Given the description of an element on the screen output the (x, y) to click on. 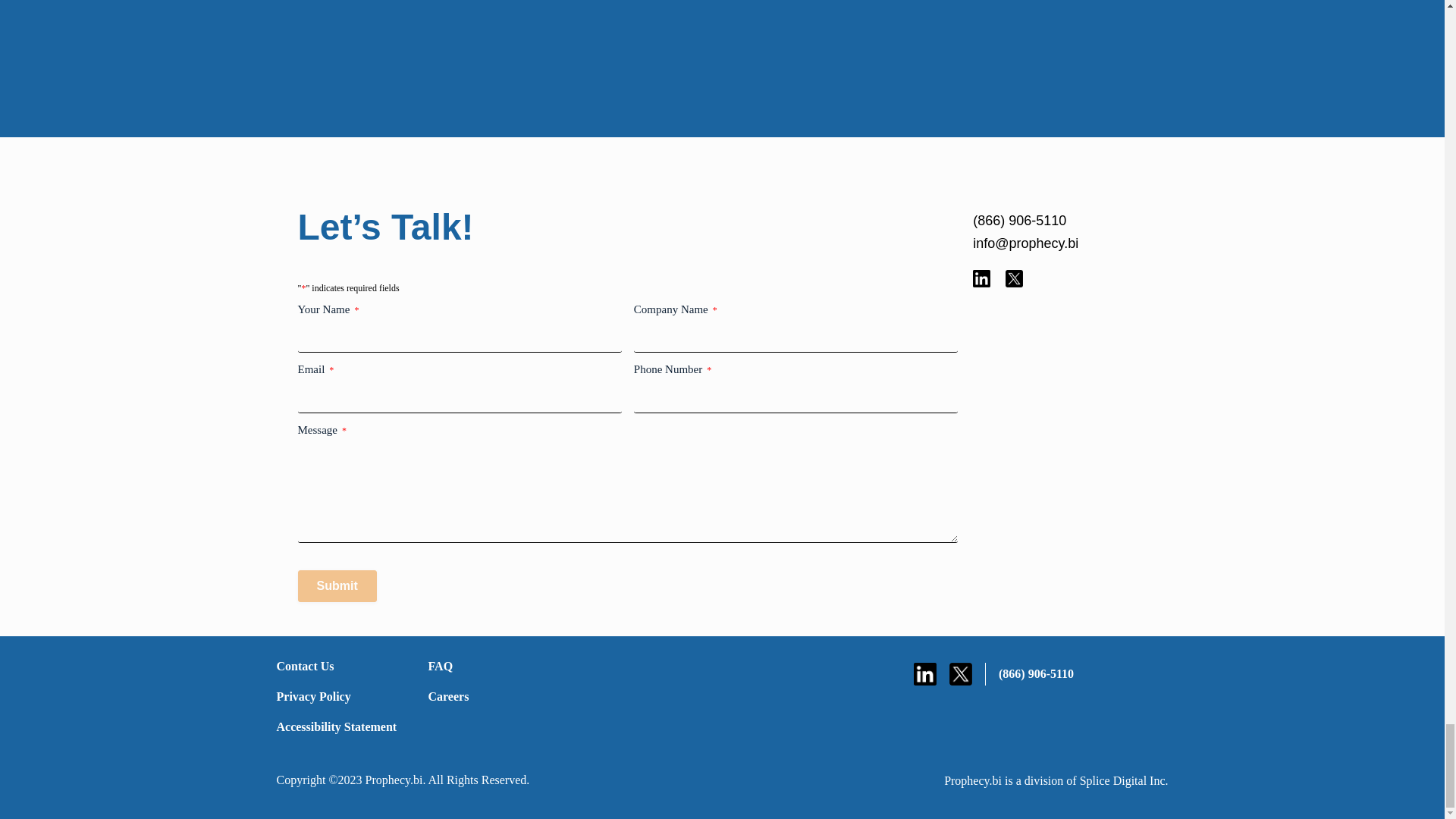
Submit (336, 585)
FAQ (494, 666)
Accessibility Statement (342, 726)
Submit (336, 585)
Privacy Policy (342, 696)
Contact Us (342, 666)
Careers (494, 696)
Splice Digital Inc. (1124, 780)
